Given the description of an element on the screen output the (x, y) to click on. 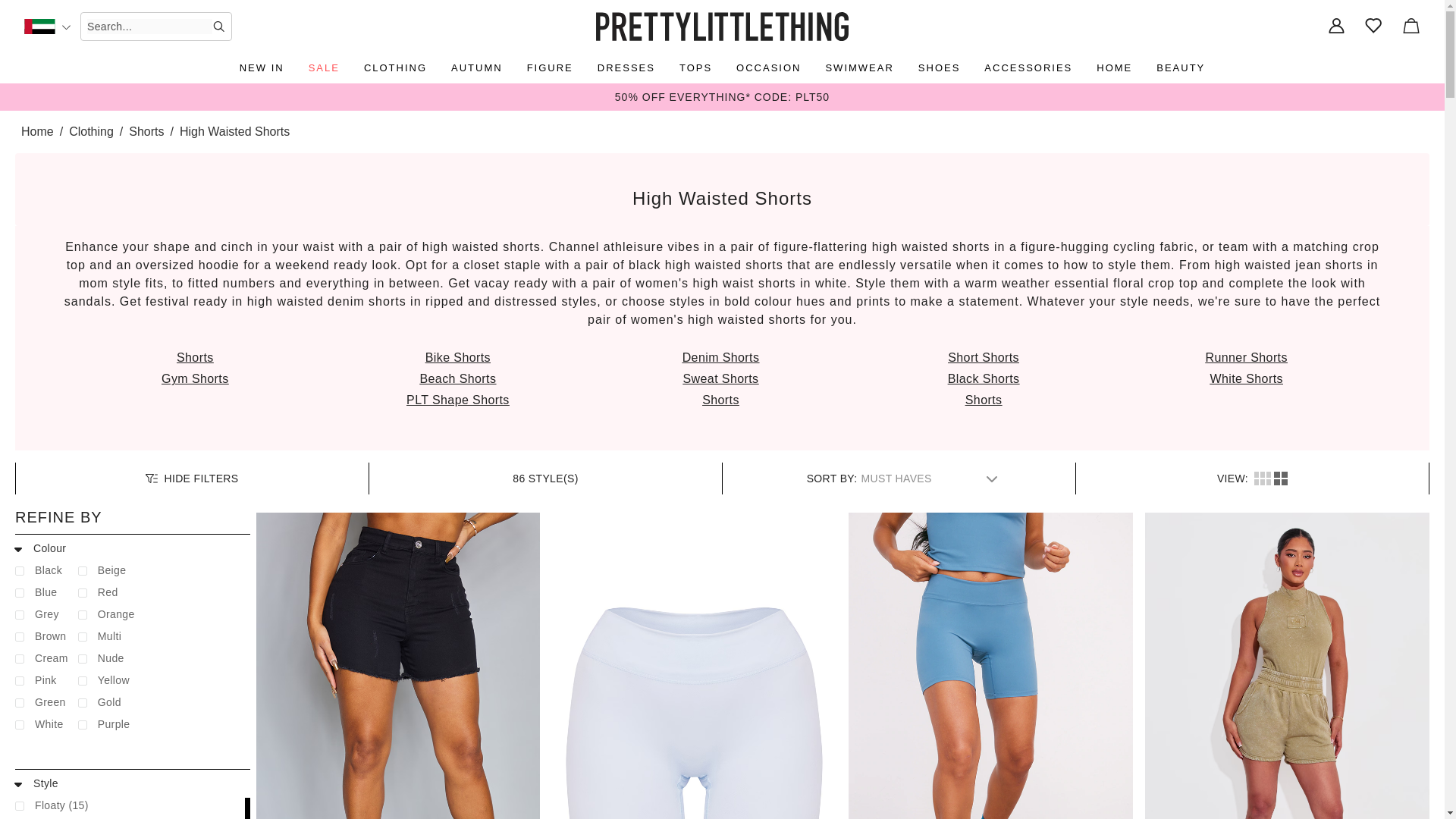
AUTUMN (476, 68)
OCCASION (768, 68)
FIGURE (550, 68)
My Wishlist (1373, 27)
HOME (1114, 68)
Search (218, 26)
ACCESSORIES (1028, 68)
Cart (1410, 27)
My Wishlist (1373, 27)
SALE (324, 68)
